Given the description of an element on the screen output the (x, y) to click on. 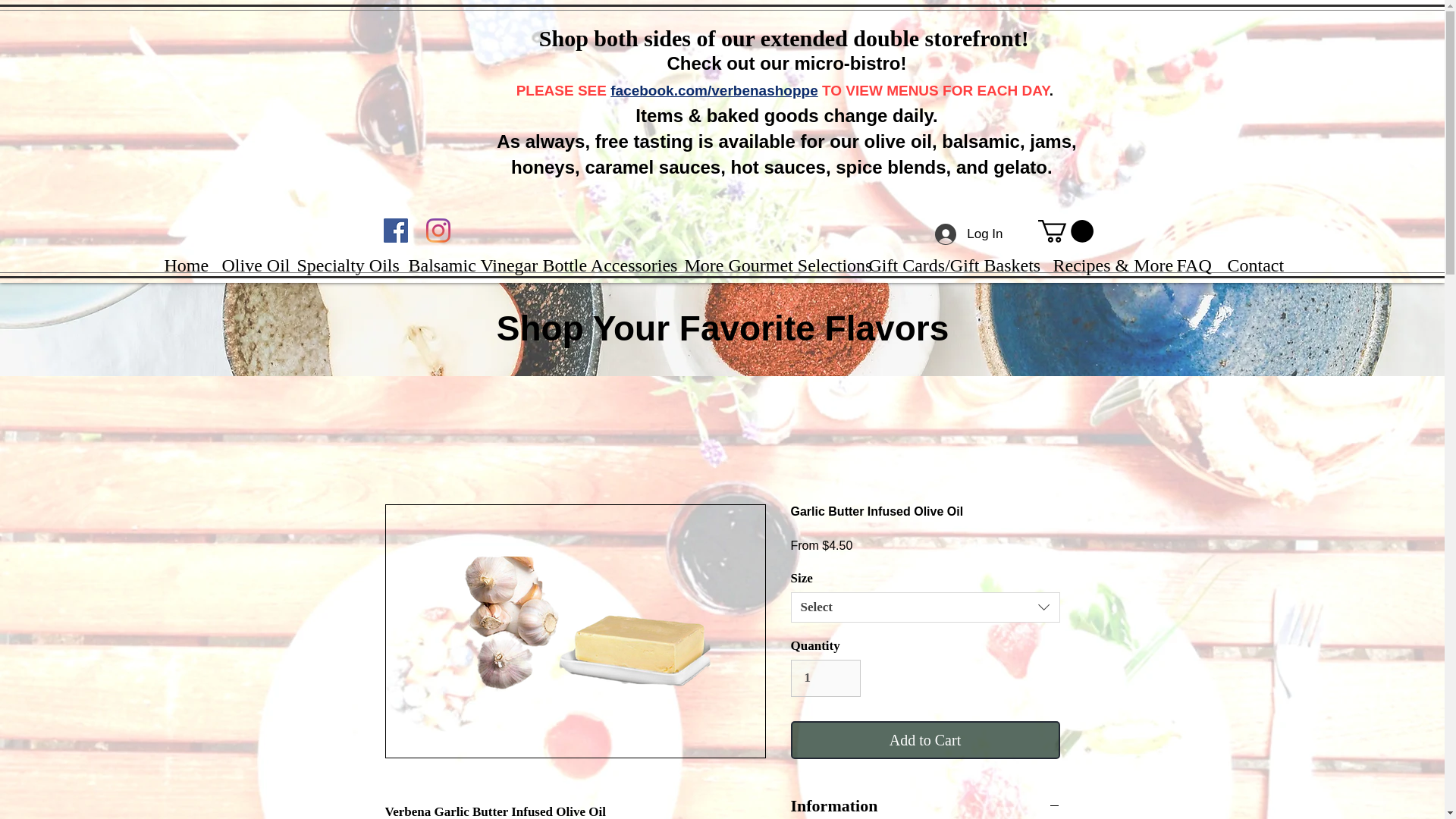
Olive Oil (248, 265)
Contact (1253, 265)
Bottle Accessories (601, 265)
Specialty Oils (340, 265)
Log In (968, 234)
FAQ (1189, 265)
Add to Cart (924, 740)
Select (924, 607)
1 (825, 678)
Balsamic Vinegar (464, 265)
Information (924, 805)
More Gourmet Selections (764, 265)
Home (181, 265)
